Given the description of an element on the screen output the (x, y) to click on. 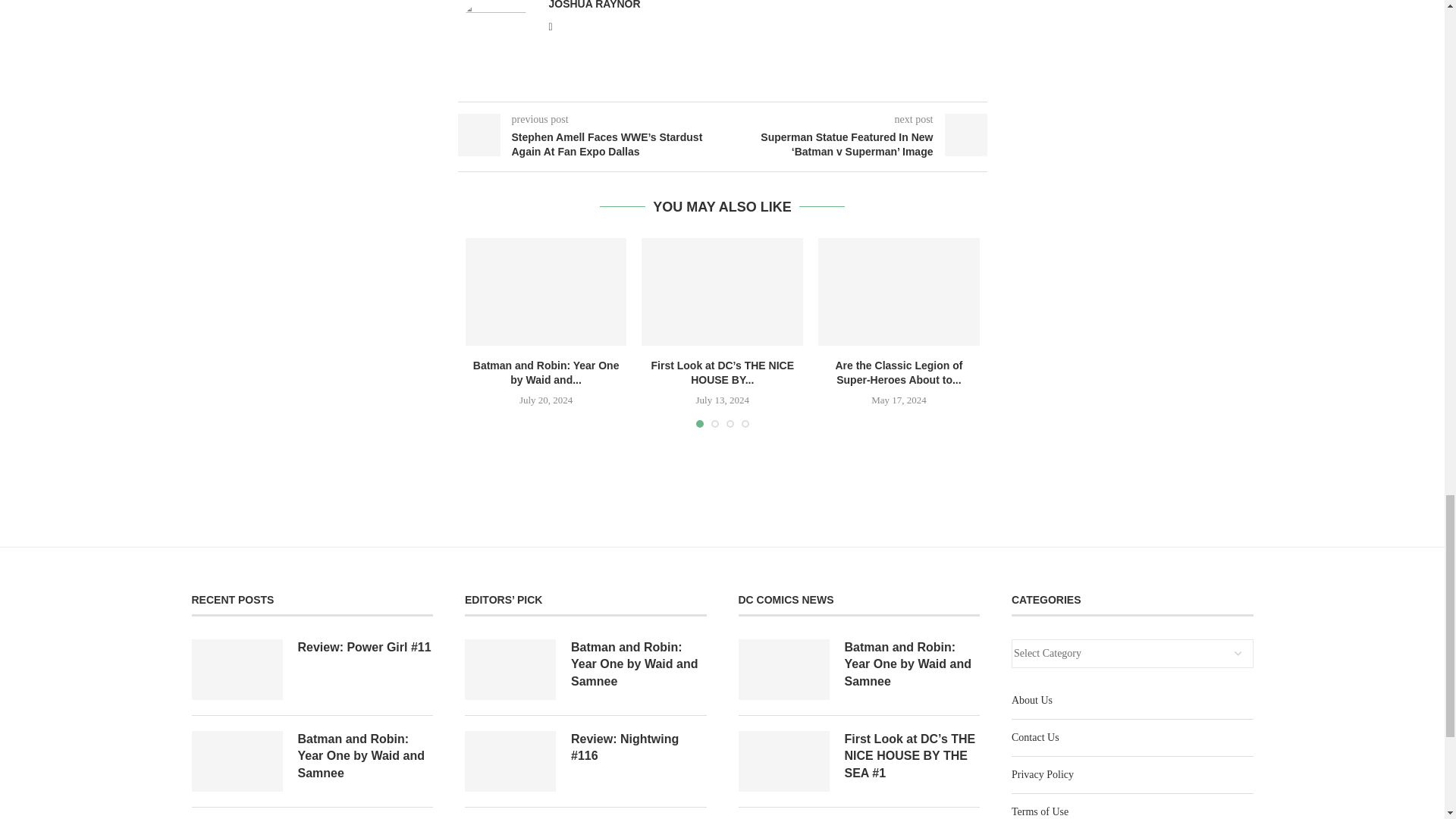
Batman and Robin: Year One by Waid and Samnee (546, 291)
Author Joshua Raynor (594, 4)
